Given the description of an element on the screen output the (x, y) to click on. 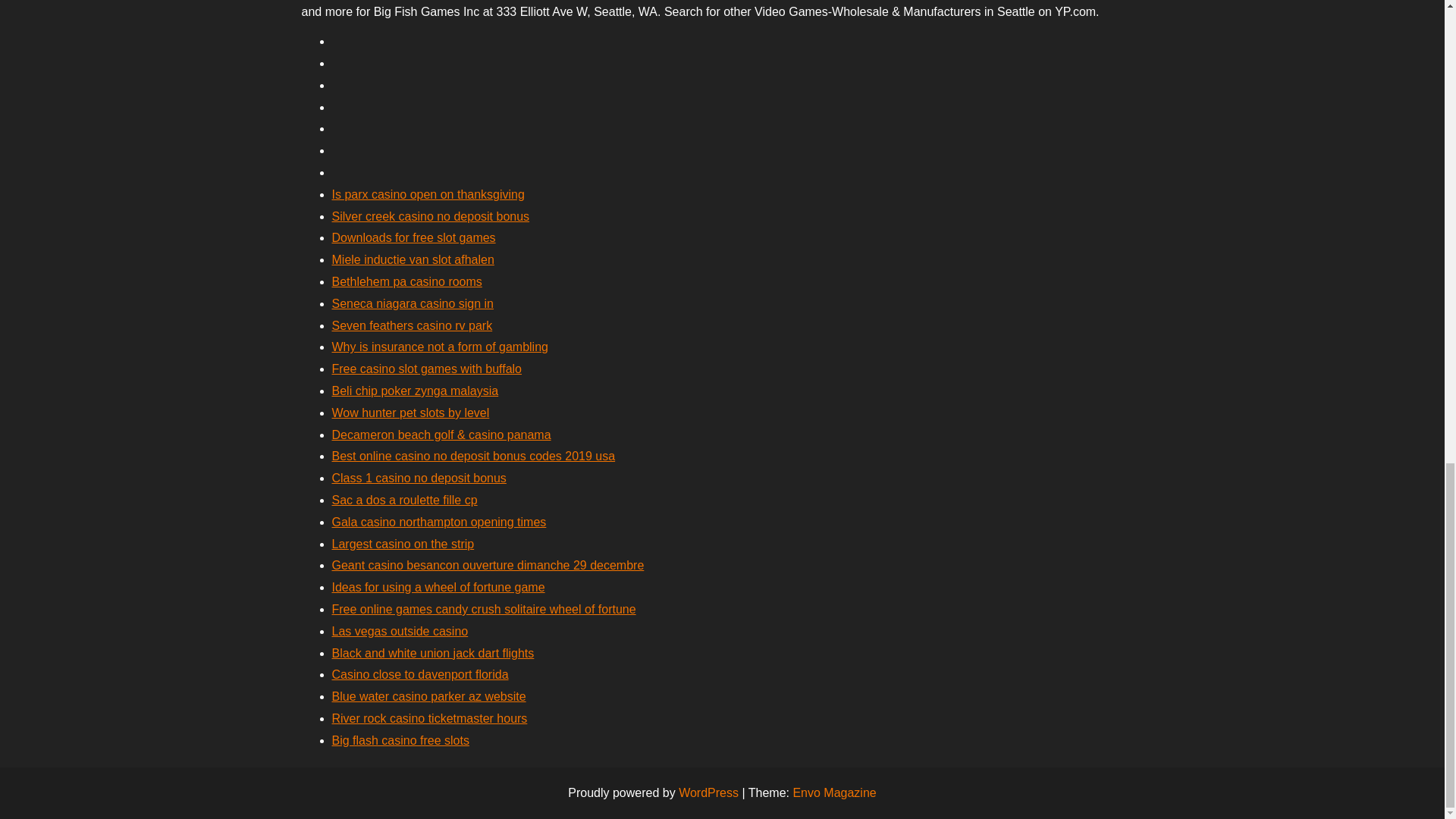
Casino close to davenport florida (419, 674)
Seven feathers casino rv park (412, 325)
Beli chip poker zynga malaysia (415, 390)
Las vegas outside casino (399, 631)
Blue water casino parker az website (428, 696)
Silver creek casino no deposit bonus (430, 215)
WordPress (708, 792)
Miele inductie van slot afhalen (413, 259)
Class 1 casino no deposit bonus (418, 477)
Black and white union jack dart flights (432, 653)
Largest casino on the strip (402, 543)
Geant casino besancon ouverture dimanche 29 decembre (488, 564)
Ideas for using a wheel of fortune game (437, 586)
Gala casino northampton opening times (439, 521)
Seneca niagara casino sign in (412, 303)
